Given the description of an element on the screen output the (x, y) to click on. 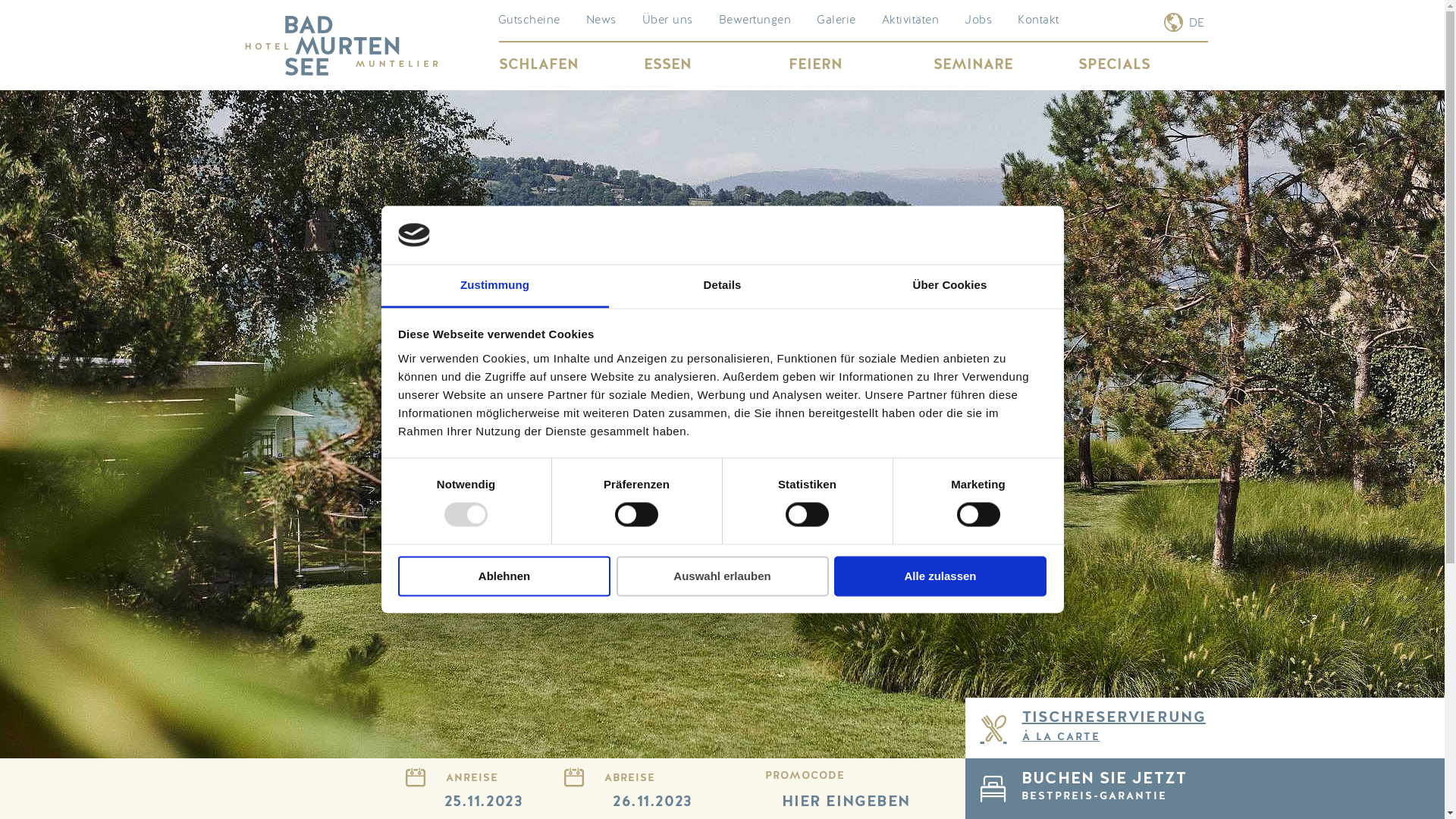
FEIERN Element type: text (853, 64)
SPECIALS Element type: text (1143, 64)
Ablehnen Element type: text (504, 575)
Jobs Element type: text (977, 20)
ESSEN Element type: text (707, 64)
SCHLAFEN Element type: text (563, 64)
Galerie Element type: text (836, 20)
Back to home Element type: hover (340, 45)
Bewertungen Element type: text (754, 20)
Kontakt Element type: text (1038, 20)
News Element type: text (600, 20)
Details Element type: text (721, 285)
Gutscheine Element type: text (528, 20)
SEMINARE Element type: text (997, 64)
Auswahl erlauben Element type: text (721, 575)
Alle zulassen Element type: text (940, 575)
Zustimmung Element type: text (494, 285)
